Given the description of an element on the screen output the (x, y) to click on. 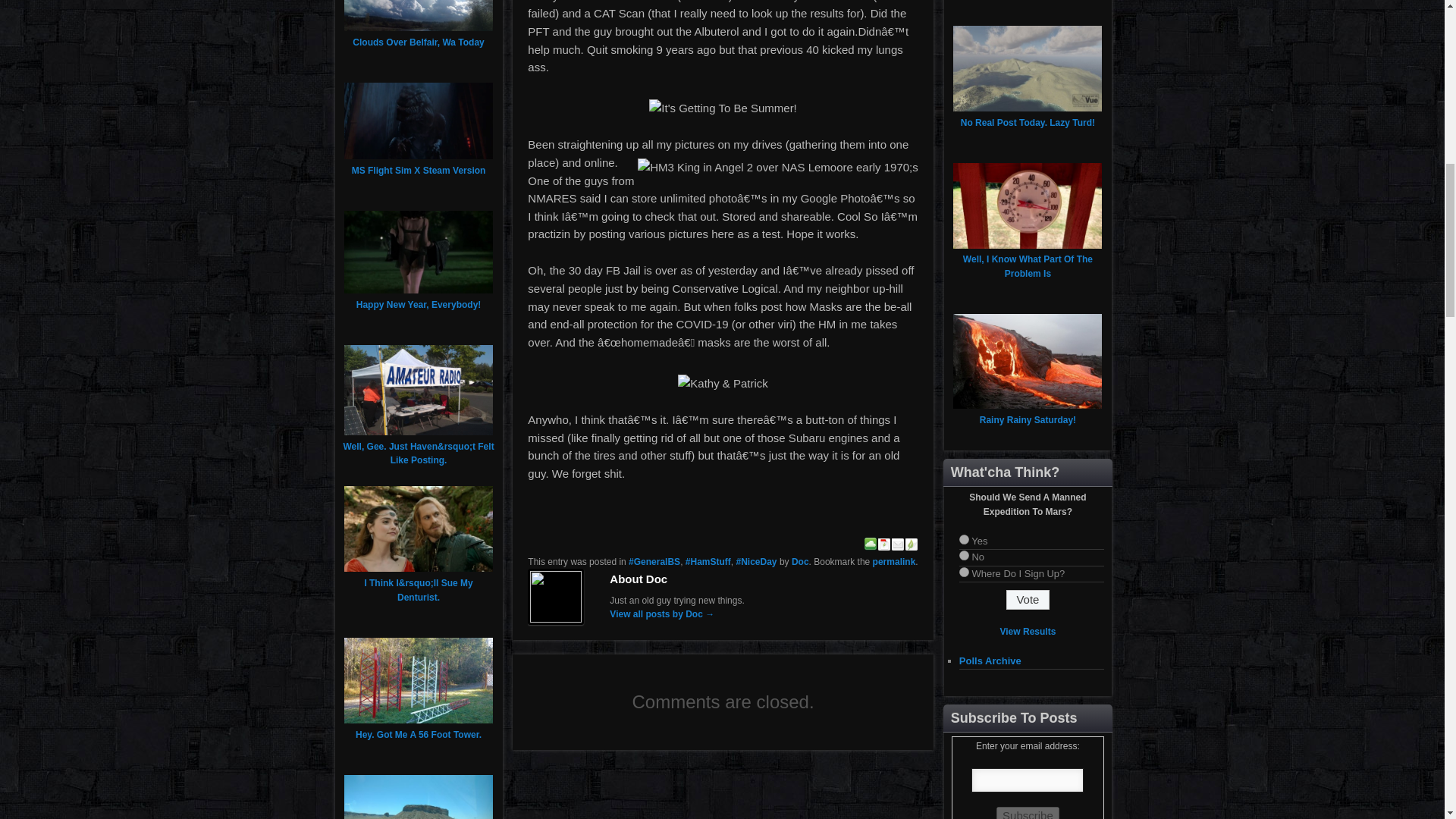
PDF page (884, 545)
permalink (893, 561)
Clouds Over Belfair, Wa Today (417, 41)
31 (964, 539)
Doc (800, 561)
HM3 King in Angel 2 over NAS Lemoore early 1970;s (777, 167)
   Vote    (1027, 599)
Save page (870, 545)
Print page (911, 545)
Email page (897, 545)
Subscribe (1027, 812)
33 (964, 572)
It's Getting To Be Summer! (722, 108)
MS Flight Sim X Steam Version (419, 170)
32 (964, 555)
